Given the description of an element on the screen output the (x, y) to click on. 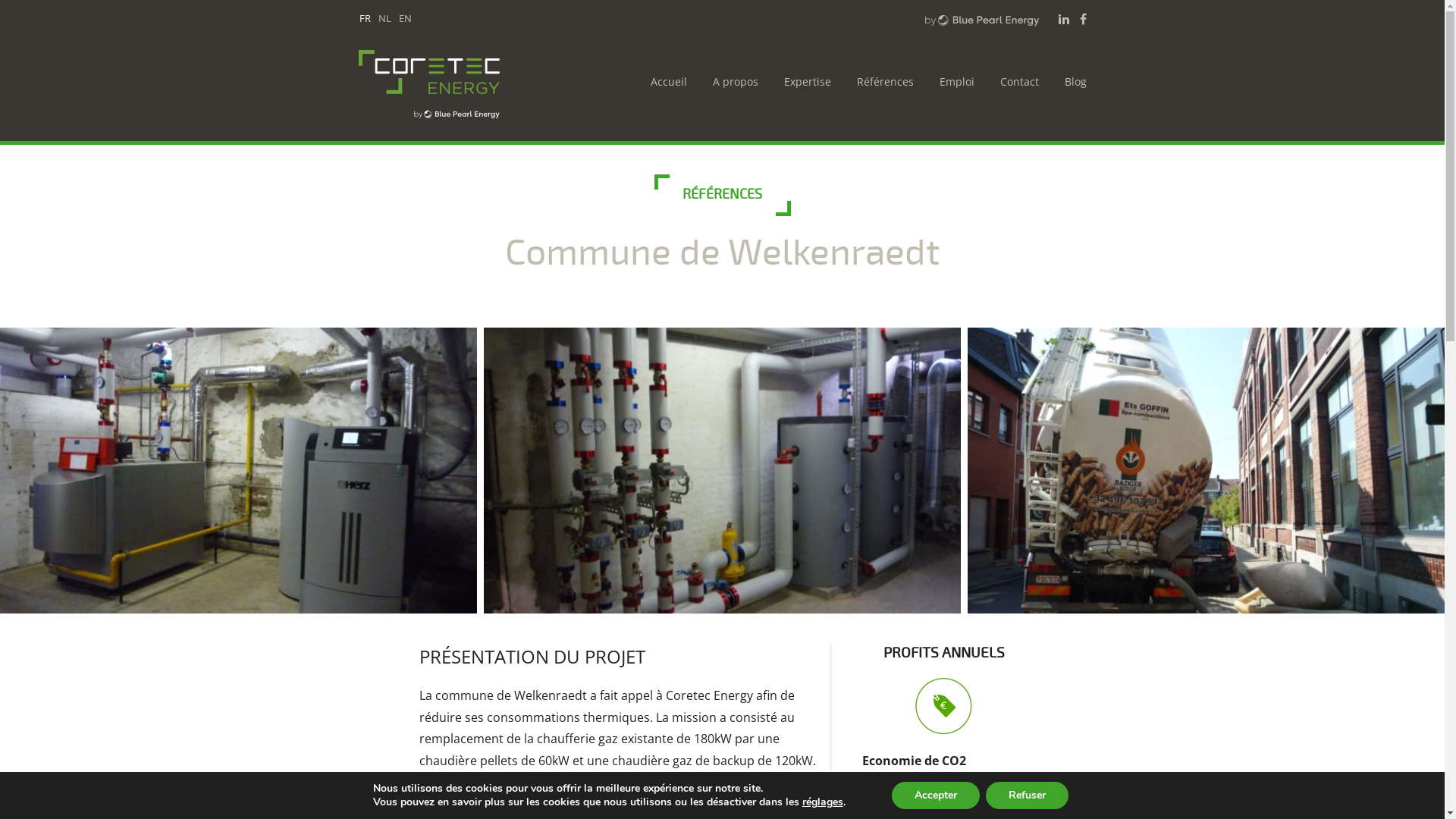
Accepter Element type: text (935, 795)
Coretec Energy Element type: hover (452, 84)
Accueil Element type: text (665, 81)
Expertise Element type: text (803, 81)
EN Element type: text (404, 17)
Contact Element type: text (1014, 81)
FR Element type: text (364, 17)
Facebook Element type: text (1082, 18)
A propos Element type: text (731, 81)
Refuser Element type: text (1026, 795)
Emploi Element type: text (952, 81)
Linkedin Element type: text (1063, 18)
Blog Element type: text (1071, 81)
NL Element type: text (383, 17)
